Given the description of an element on the screen output the (x, y) to click on. 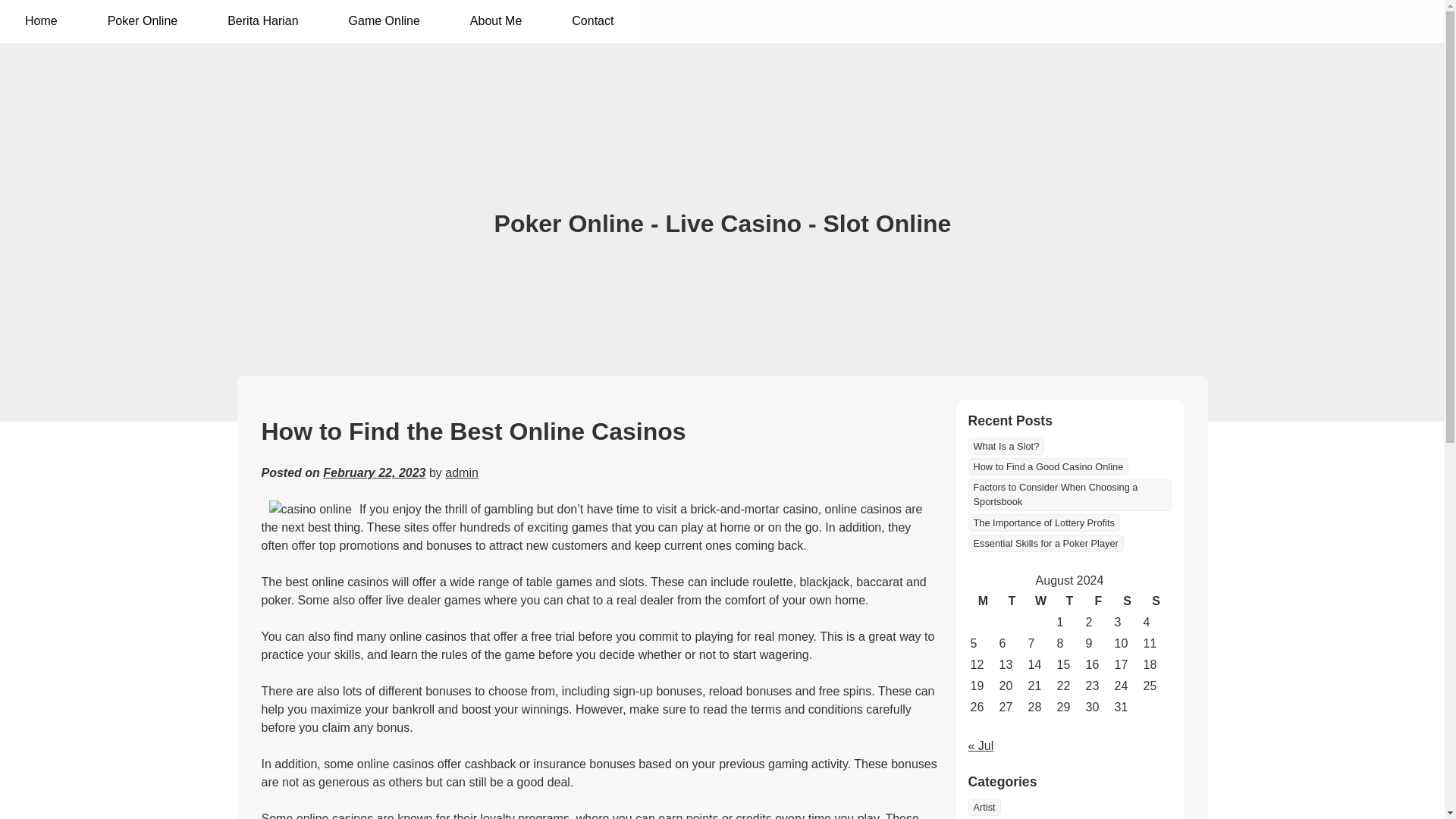
Saturday (1126, 600)
Sunday (1155, 600)
The Importance of Lottery Profits (1043, 522)
Home (41, 21)
What Is a Slot? (1005, 446)
Tuesday (1011, 600)
Contact (592, 21)
Berita Harian (262, 21)
Artist (984, 806)
How to Find a Good Casino Online (1048, 466)
